Given the description of an element on the screen output the (x, y) to click on. 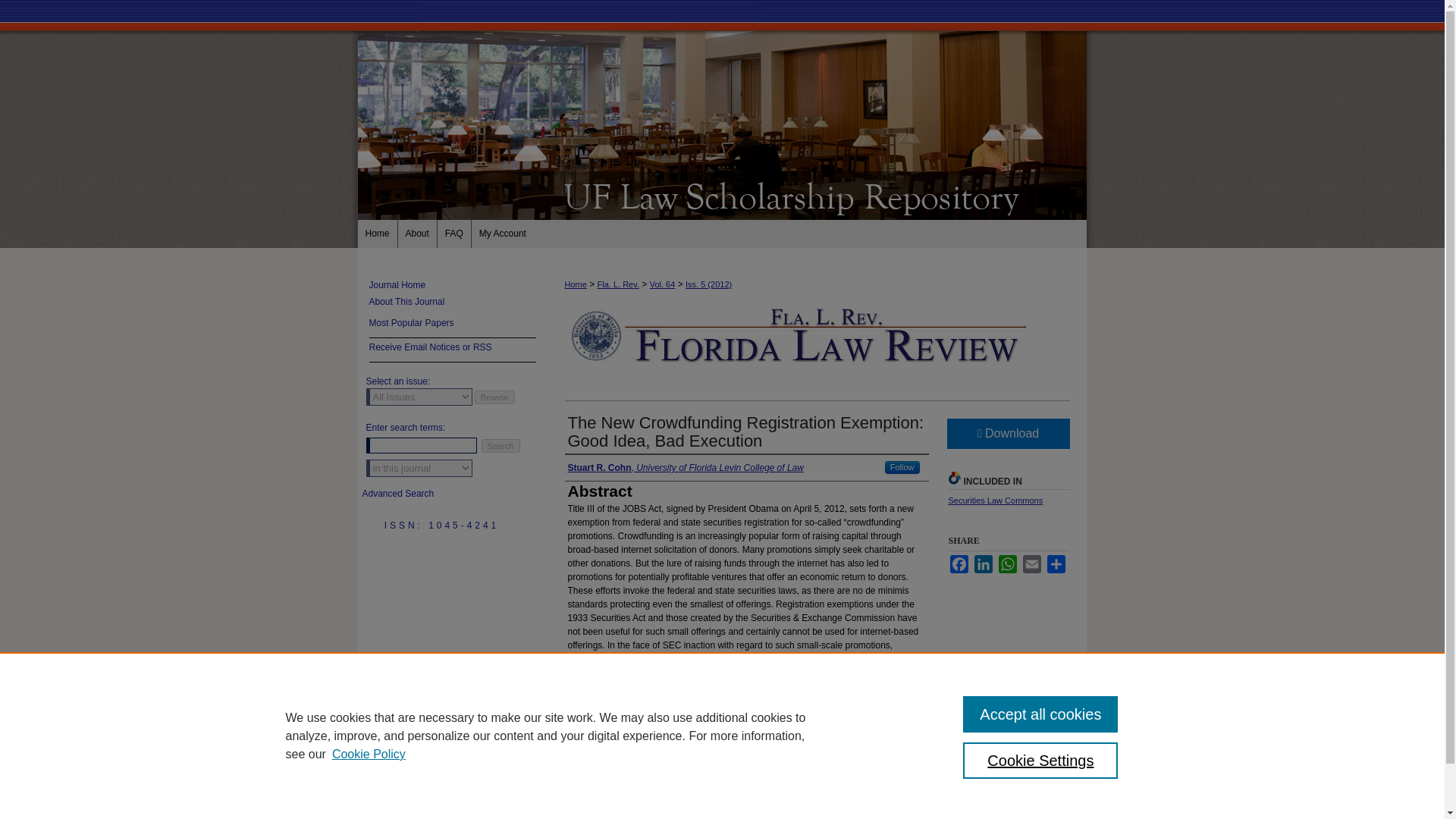
Download (1007, 433)
View the top downloaded papers (451, 325)
Follow (902, 467)
Receive Email Notices or RSS (451, 350)
Facebook (958, 564)
Search (500, 445)
FAQ (454, 234)
Search (500, 445)
Securities Law Commons (994, 500)
Search (500, 445)
Most Popular Papers (451, 325)
Follow Stuart R. Cohn (902, 467)
My Account (502, 234)
Home (377, 234)
WhatsApp (1006, 564)
